Given the description of an element on the screen output the (x, y) to click on. 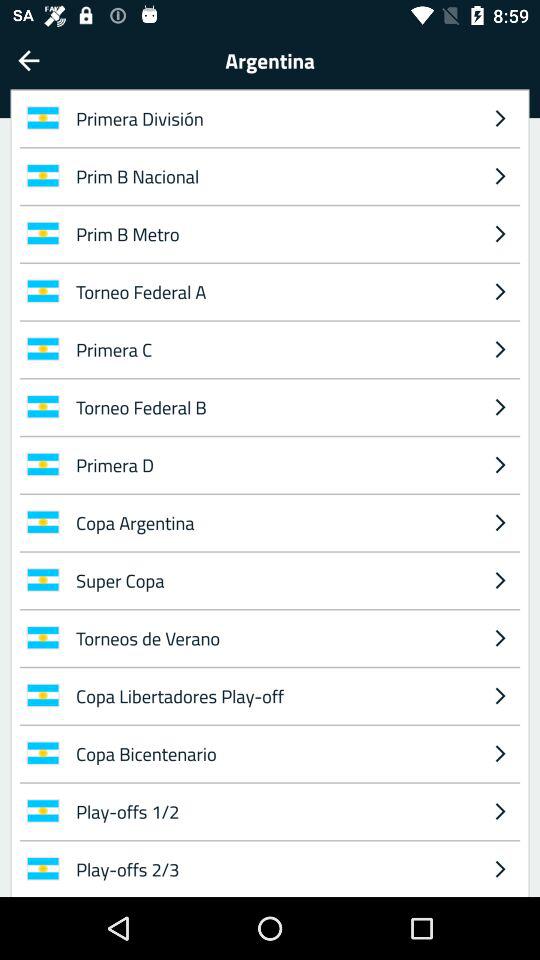
press the item to the right of the torneo federal a icon (500, 349)
